Given the description of an element on the screen output the (x, y) to click on. 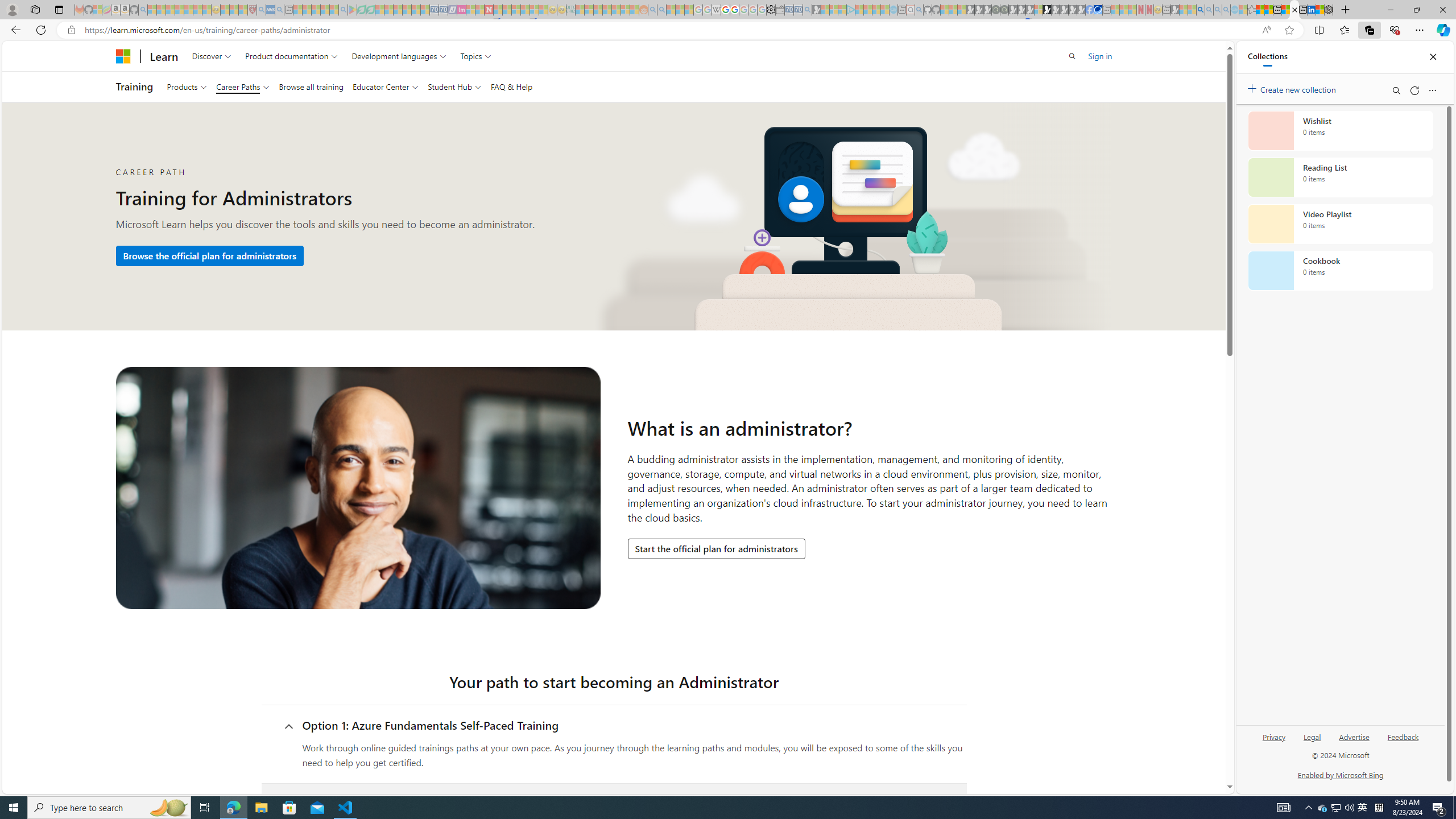
Development languages (398, 55)
Products (186, 86)
